Given the description of an element on the screen output the (x, y) to click on. 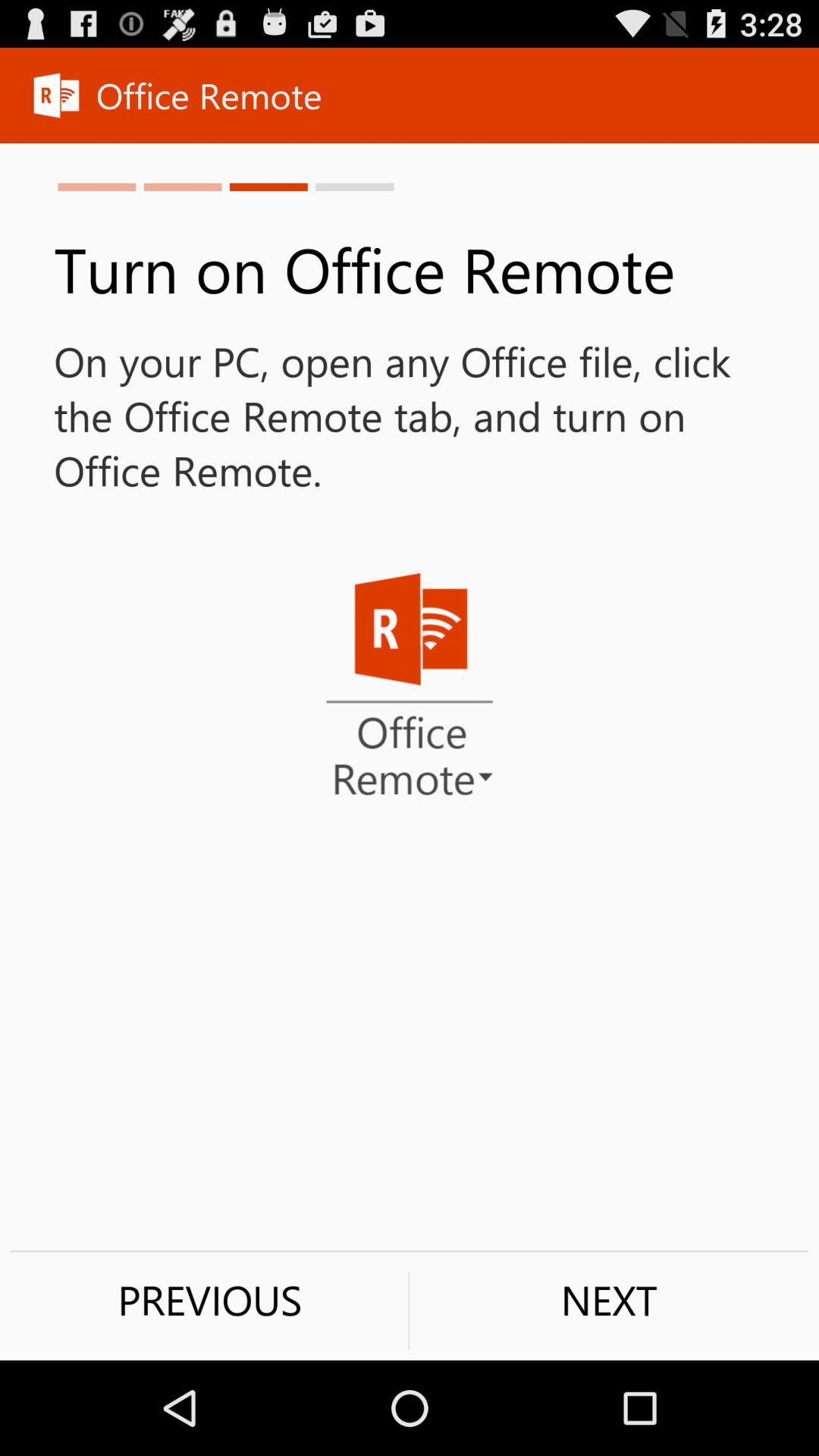
press item next to next item (209, 1300)
